Given the description of an element on the screen output the (x, y) to click on. 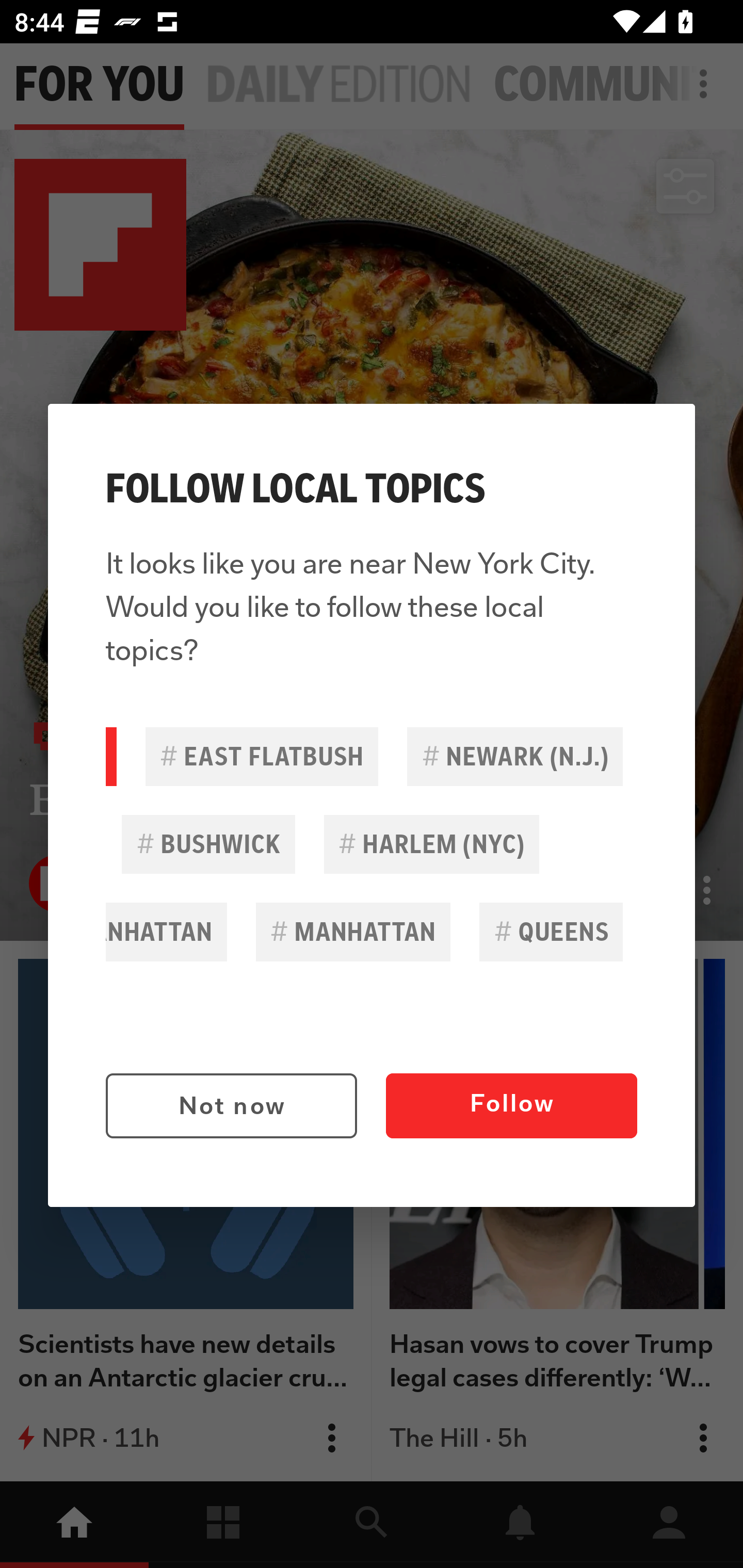
# EAST FLATBUSH (261, 756)
# NEWARK (N.J.) (514, 756)
# BUSHWICK (207, 844)
# HARLEM (NYC) (431, 844)
# MIDTOWN MANHATTAN (166, 932)
# MANHATTAN (352, 932)
# QUEENS (550, 932)
Not now (231, 1106)
Follow (511, 1106)
